Given the description of an element on the screen output the (x, y) to click on. 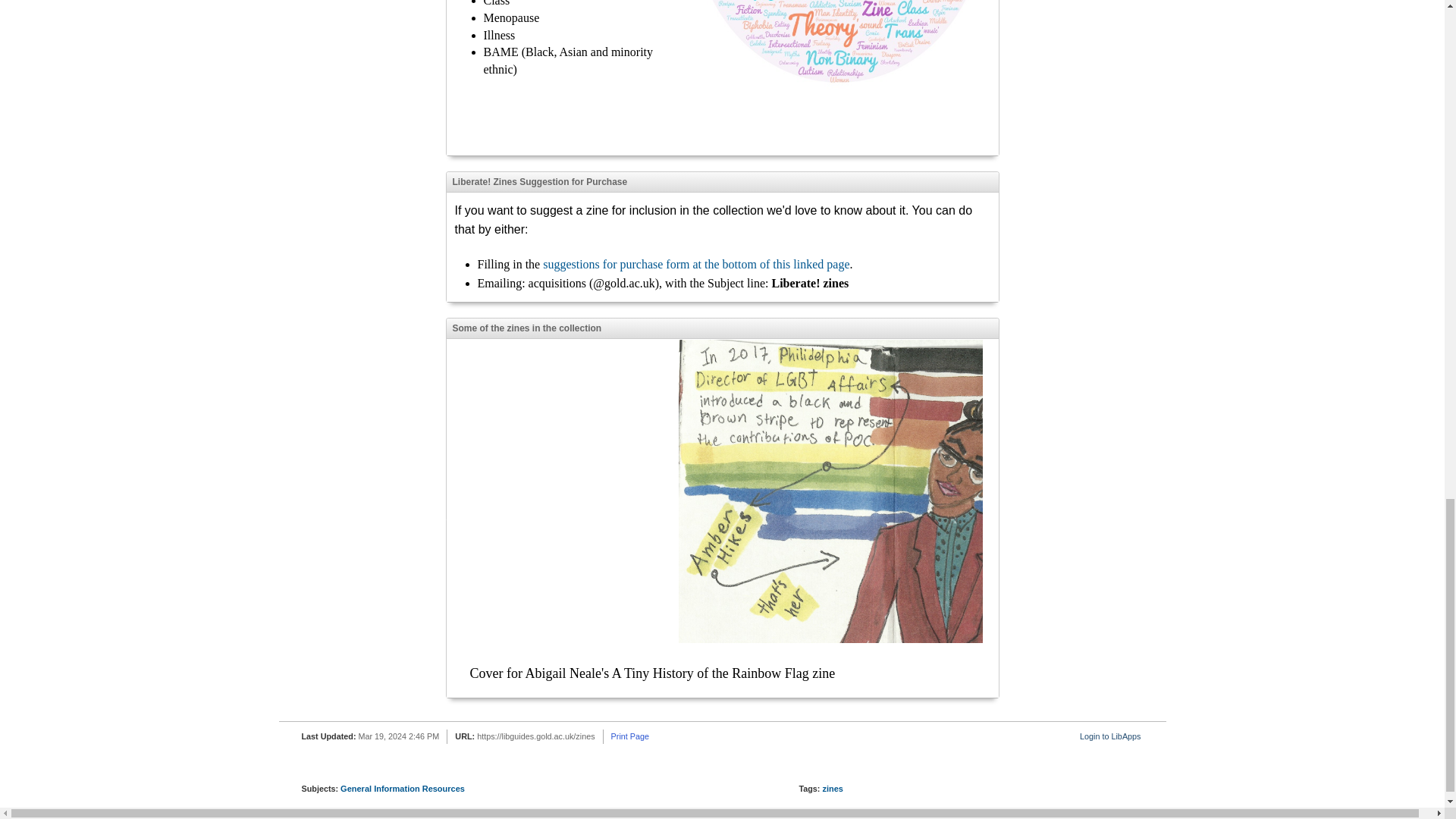
Next (993, 518)
Previous (450, 518)
zines (832, 788)
Login to LibApps (1110, 736)
Print Page (630, 736)
General Information Resources (402, 788)
